Given the description of an element on the screen output the (x, y) to click on. 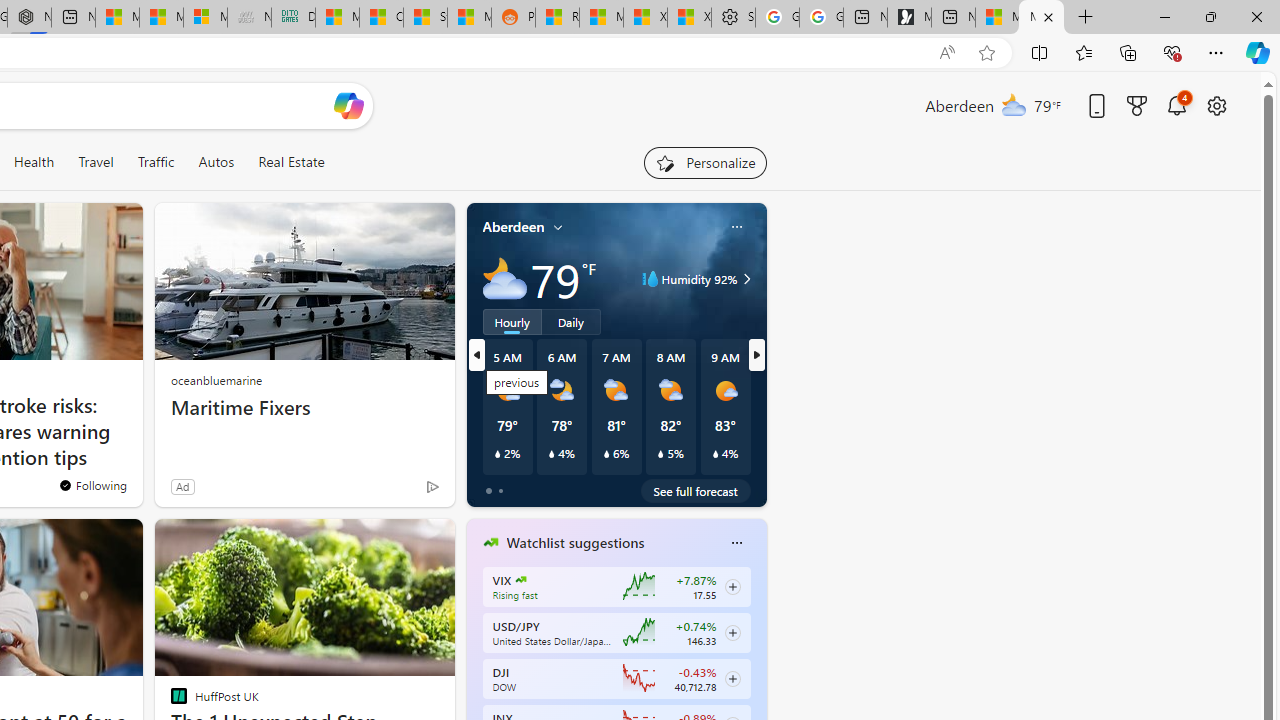
Humidity 92% (744, 278)
Autos (215, 161)
Class: follow-button  m (732, 678)
Health (34, 161)
Maritime Fixers (304, 407)
